Given the description of an element on the screen output the (x, y) to click on. 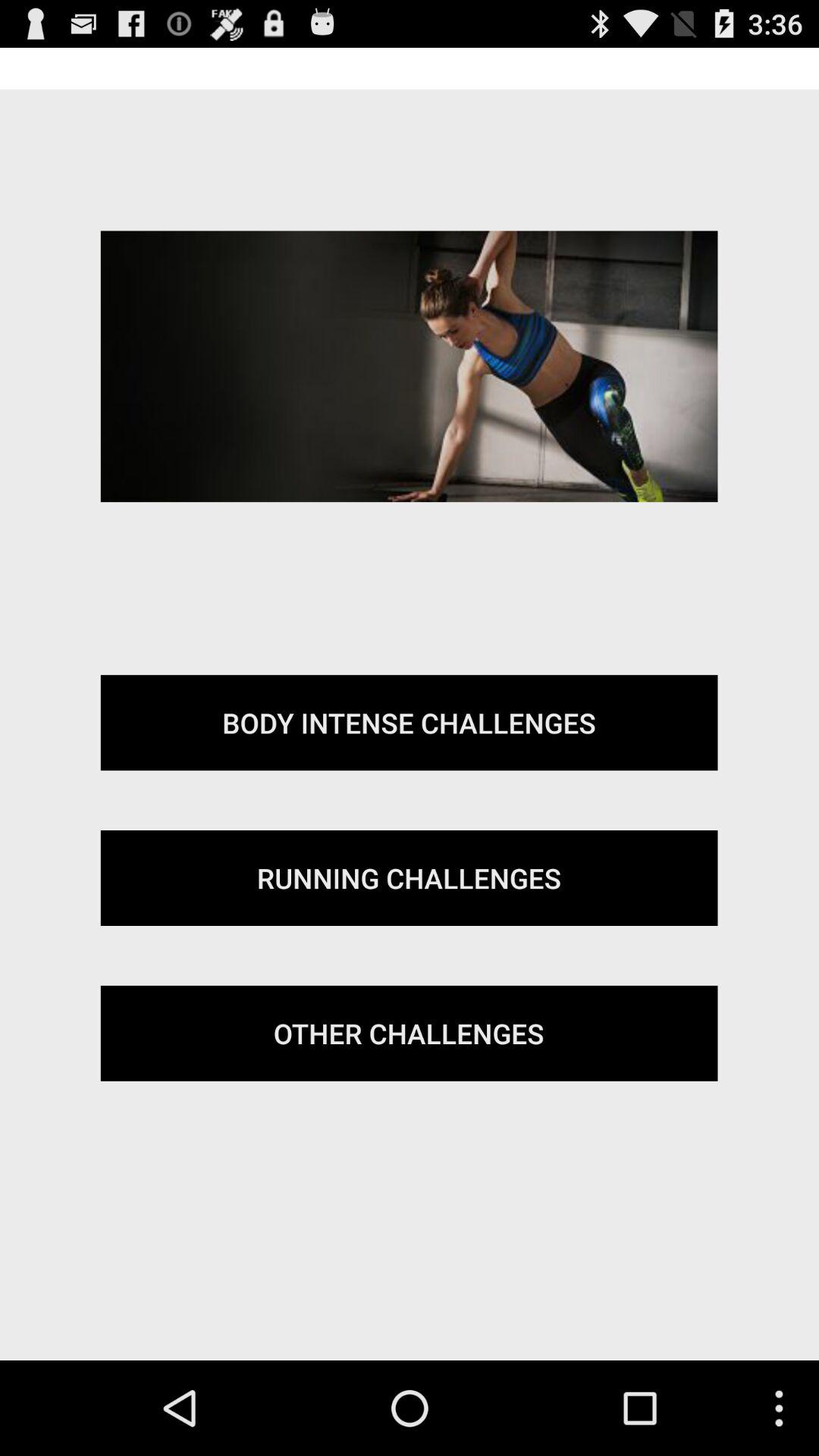
swipe to the running challenges icon (408, 877)
